Given the description of an element on the screen output the (x, y) to click on. 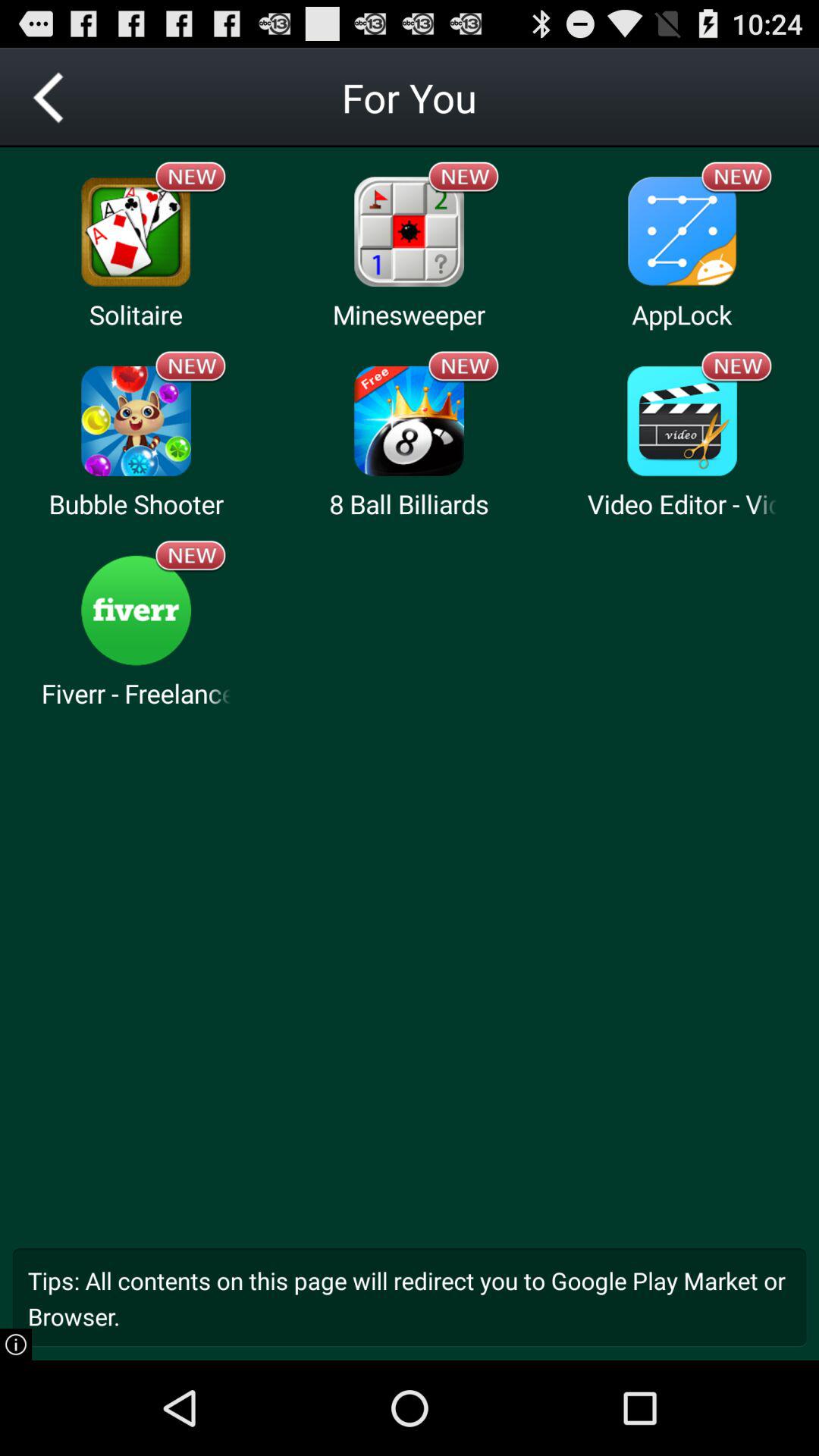
tap the fiverr - freelance services (135, 692)
